Given the description of an element on the screen output the (x, y) to click on. 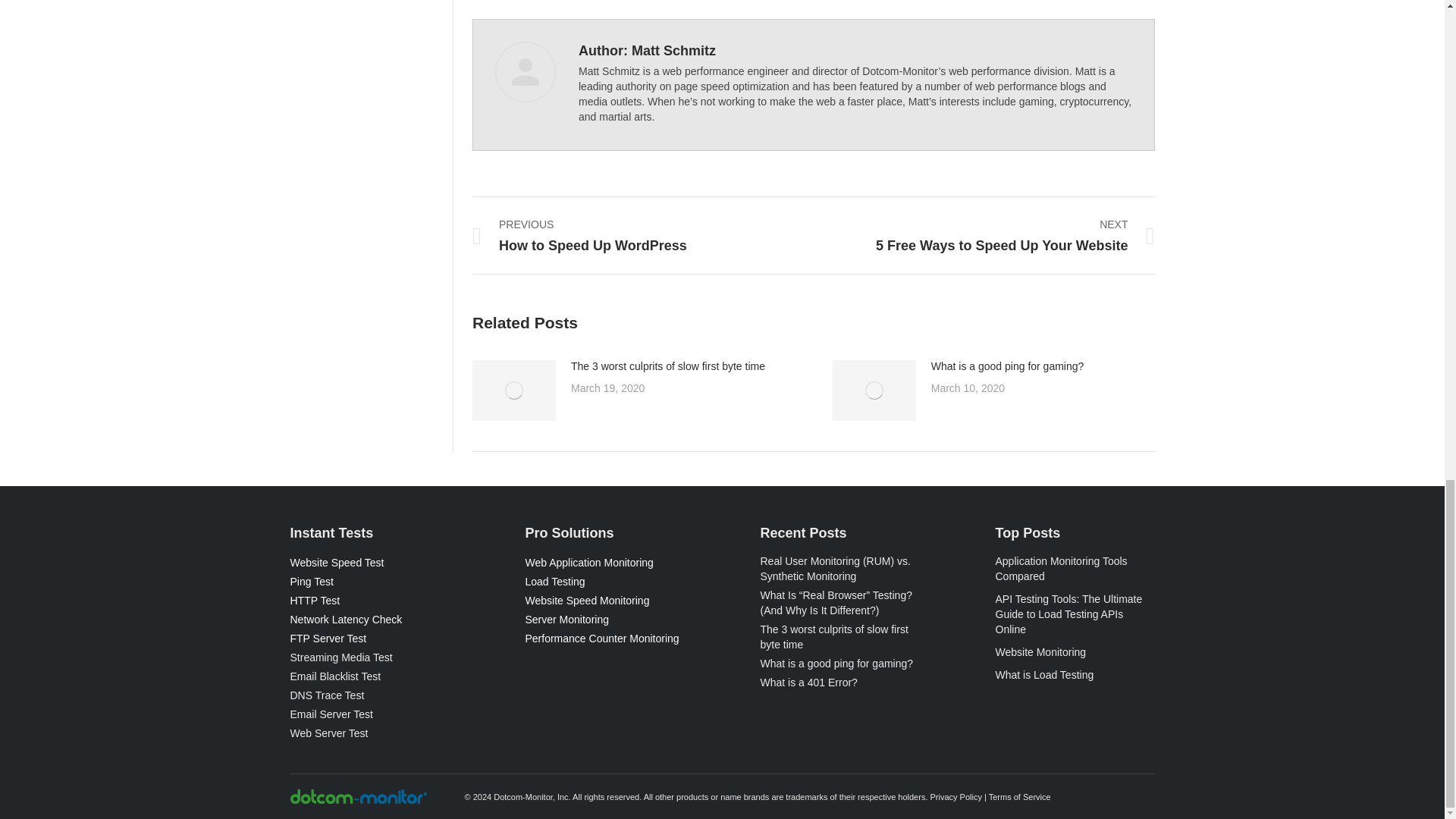
Terms of Service (1019, 796)
Privacy Policy (955, 796)
